Given the description of an element on the screen output the (x, y) to click on. 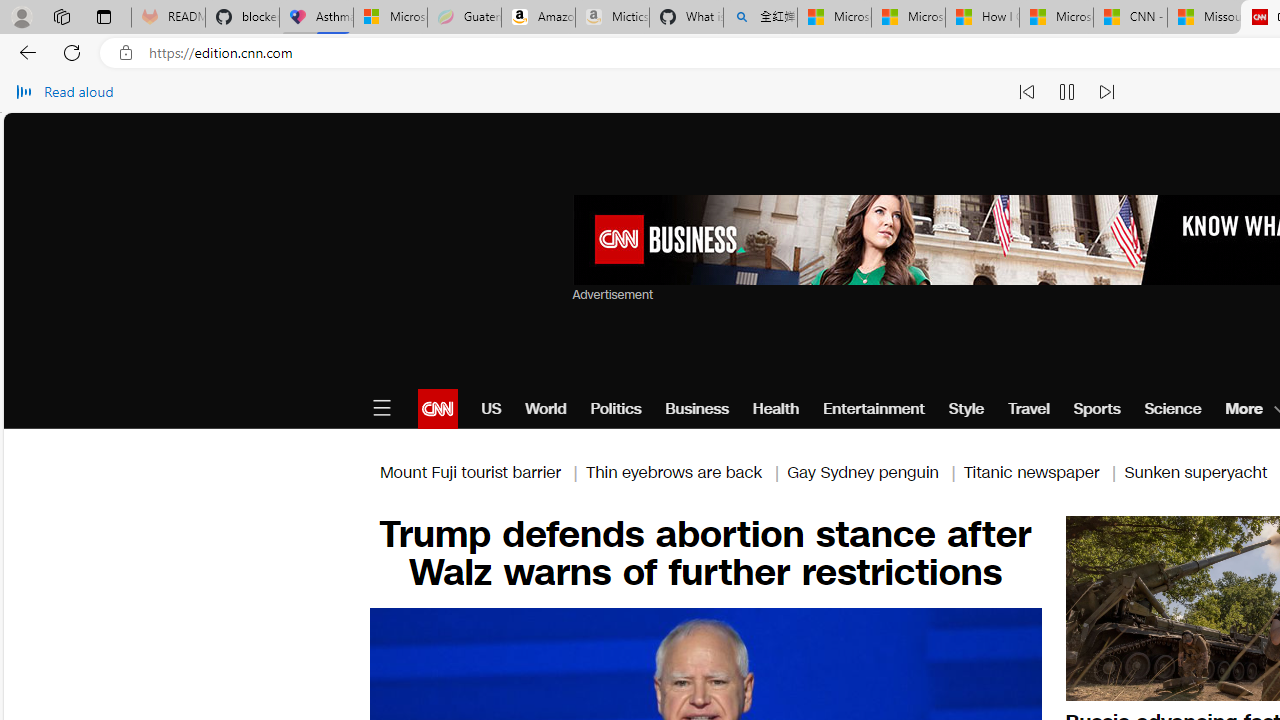
World (545, 408)
Business (697, 408)
Read next paragraph (1105, 92)
CNN - MSN (1130, 17)
